Given the description of an element on the screen output the (x, y) to click on. 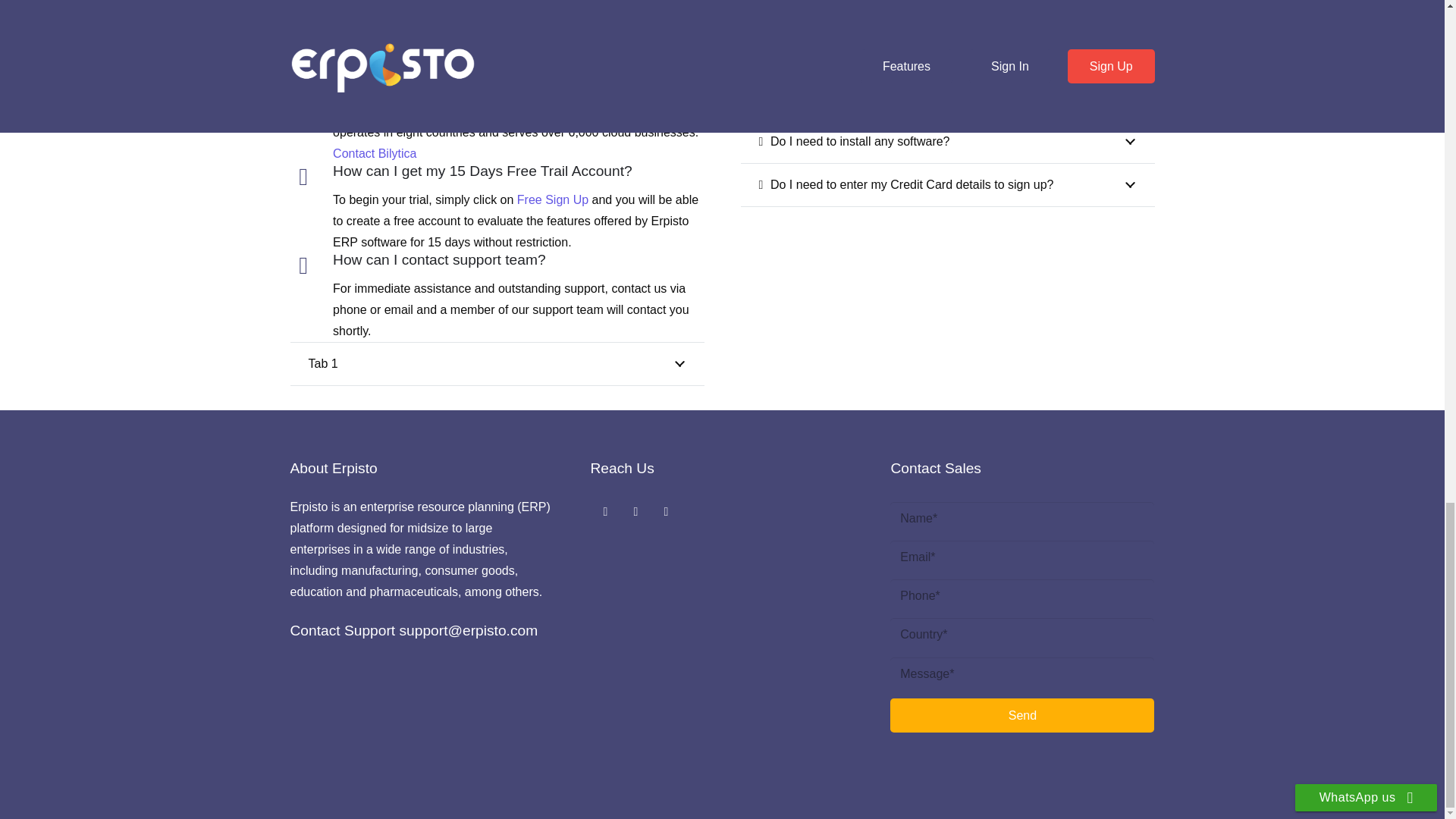
Send (1021, 715)
Send (1021, 715)
Twitter (635, 511)
Tab 1 (496, 362)
LinkedIn (665, 511)
Contact Bilytica (374, 153)
Facebook (604, 511)
Tab 1 (496, 363)
Do I need to enter my Credit Card details to sign up? (946, 184)
Is my data safe? (946, 97)
Do I need to install any software? (946, 141)
Free Sign Up (552, 199)
